Given the description of an element on the screen output the (x, y) to click on. 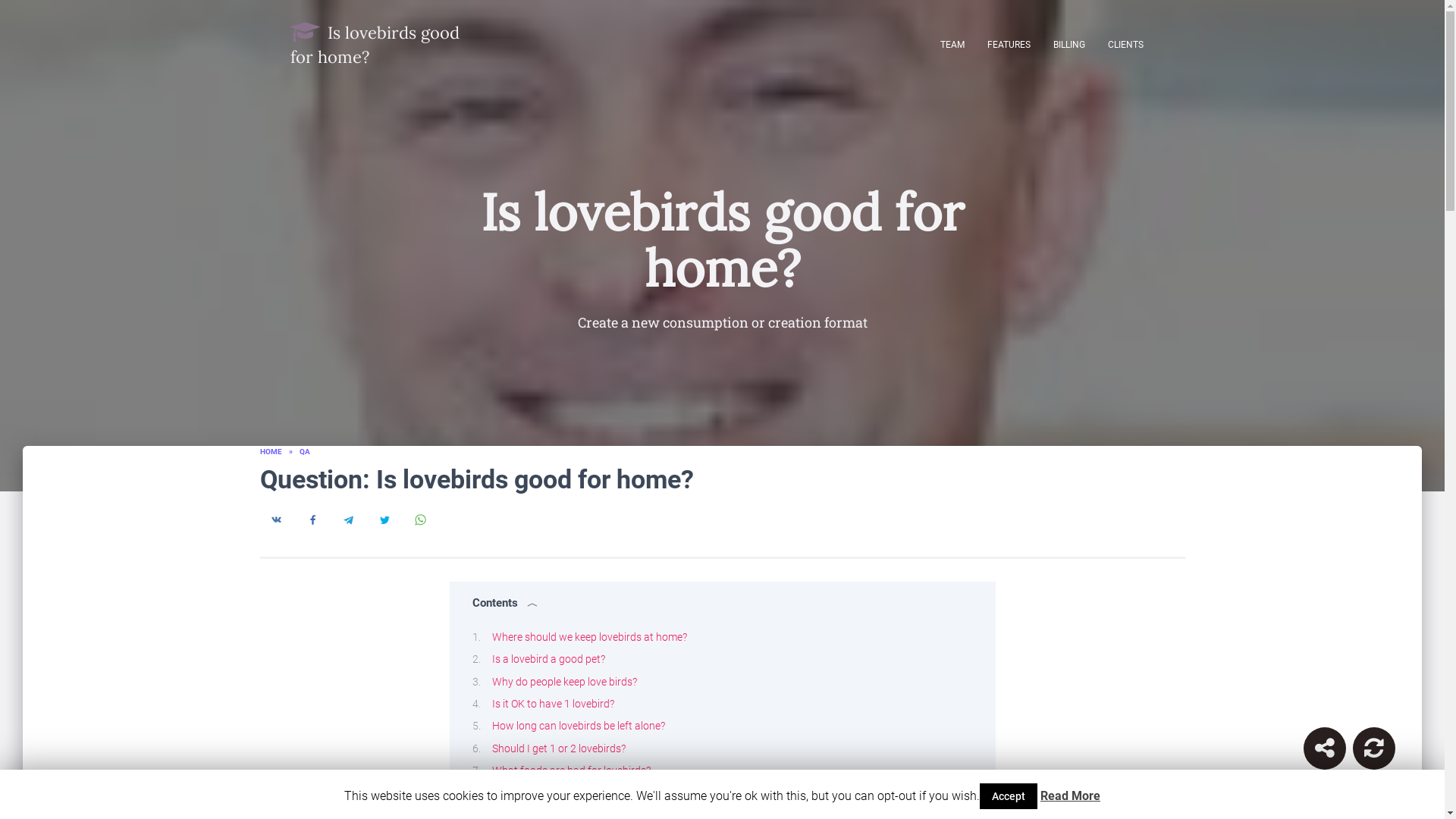
Billing (1069, 44)
TEAM (951, 44)
Read More (1070, 795)
BILLING (1069, 44)
What foods are bad for lovebirds? (570, 770)
How long can lovebirds be left alone? (577, 725)
Is lovebirds good for home? (379, 43)
Where should we keep lovebirds at home? (588, 636)
Is lovebirds good for home? (379, 43)
Is it OK to have 1 lovebird? (552, 703)
Is a lovebird a good pet? (548, 658)
Features (1008, 44)
Clients (1125, 44)
Accept (1007, 795)
Share Startup (1324, 748)
